Given the description of an element on the screen output the (x, y) to click on. 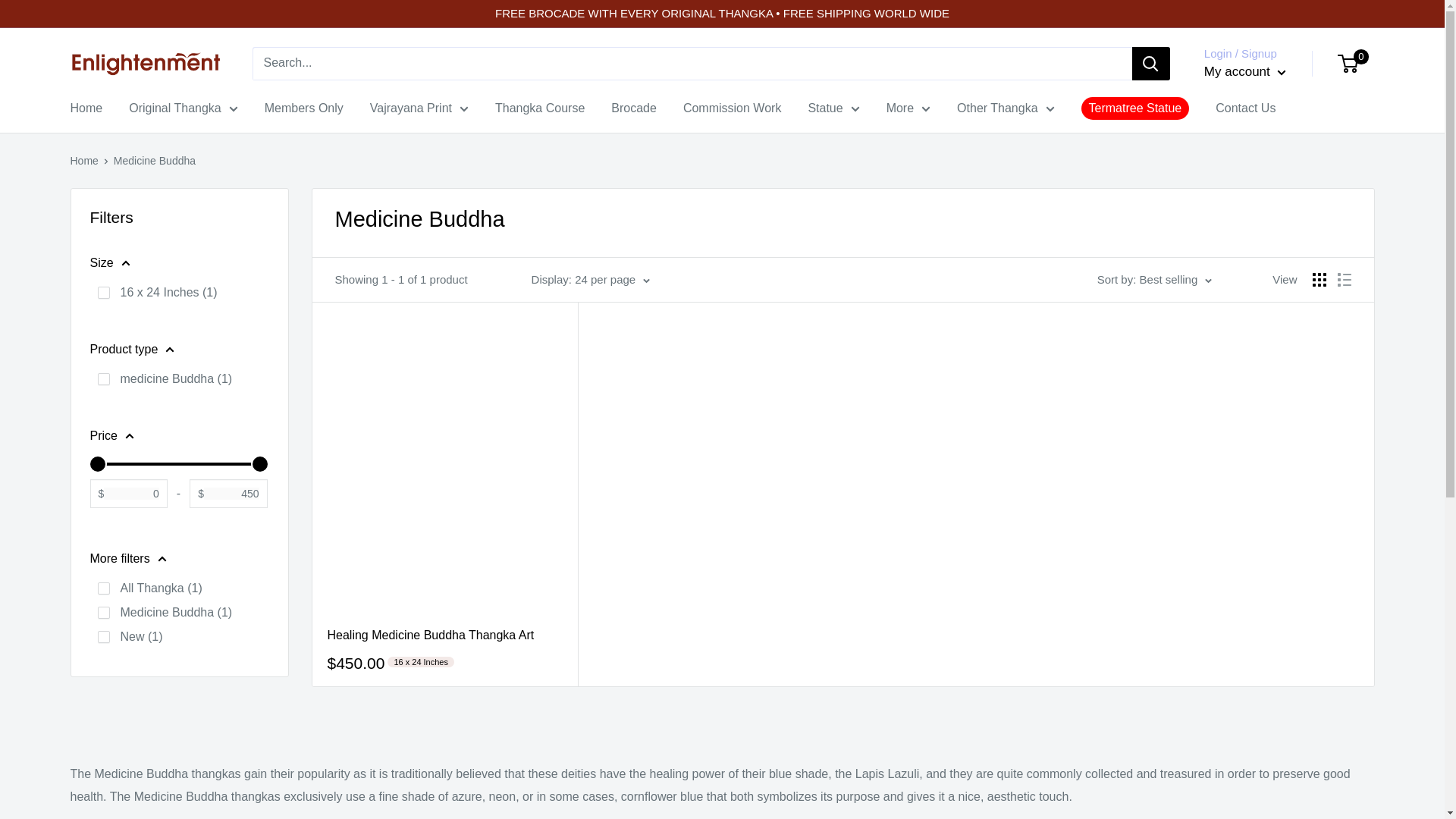
New (103, 636)
0 (177, 464)
450 (177, 464)
medicine Buddha (103, 378)
All Thangka (103, 588)
16 x 24 Inches (103, 292)
Medicine Buddha (103, 612)
